Given the description of an element on the screen output the (x, y) to click on. 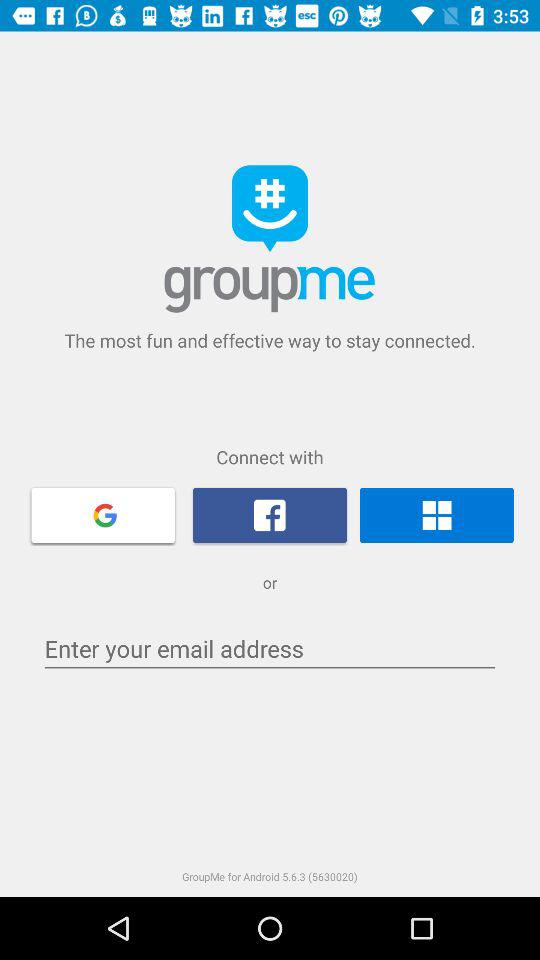
launch item below the connect with (436, 515)
